Given the description of an element on the screen output the (x, y) to click on. 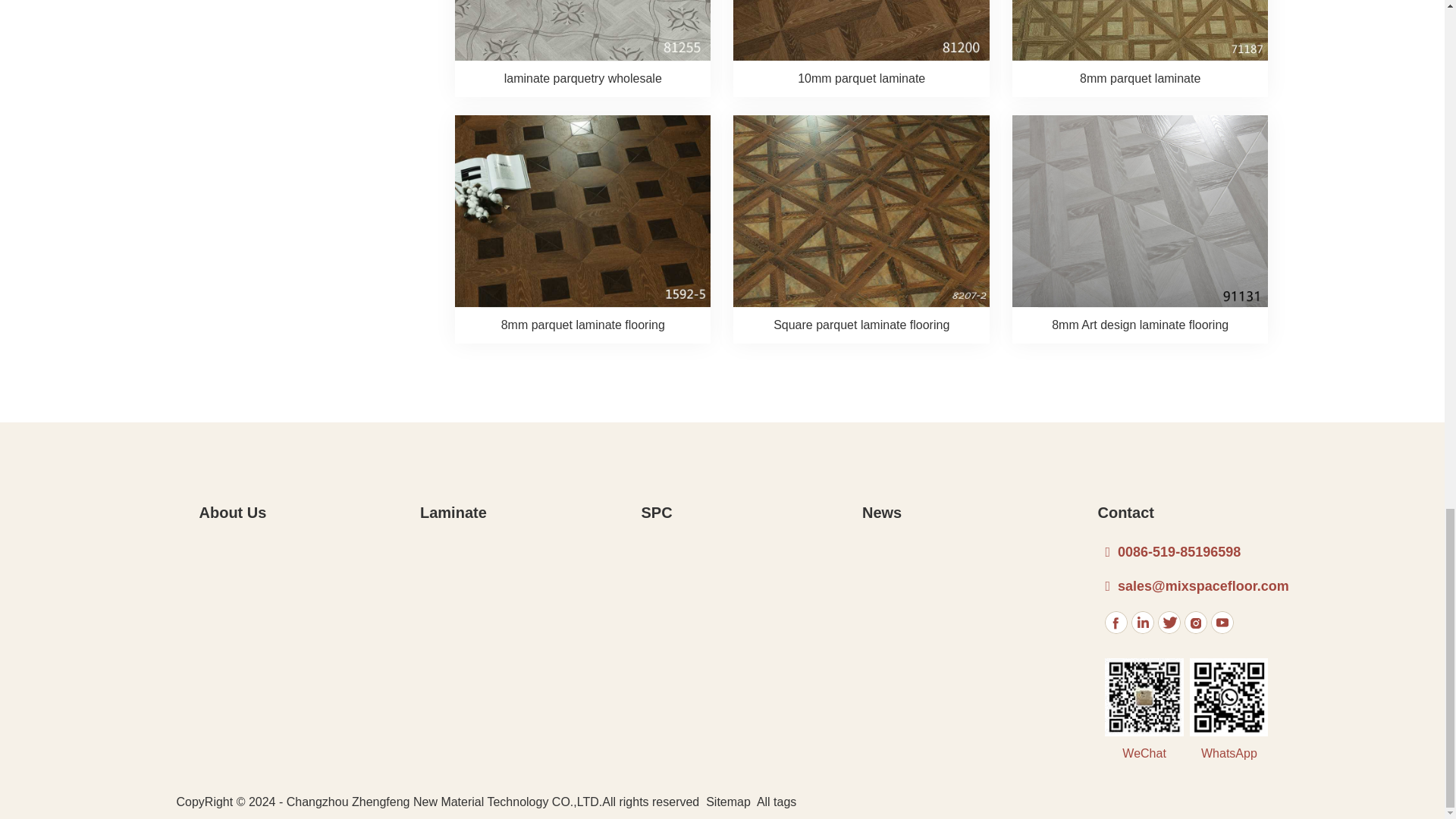
10mm parquet laminate (860, 78)
laminate parquetry wholesale (582, 78)
8mm Art design laminate flooring (1140, 325)
Square parquet laminate flooring (860, 325)
8mm parquet laminate (1140, 78)
8mm parquet laminate flooring (582, 325)
